Given the description of an element on the screen output the (x, y) to click on. 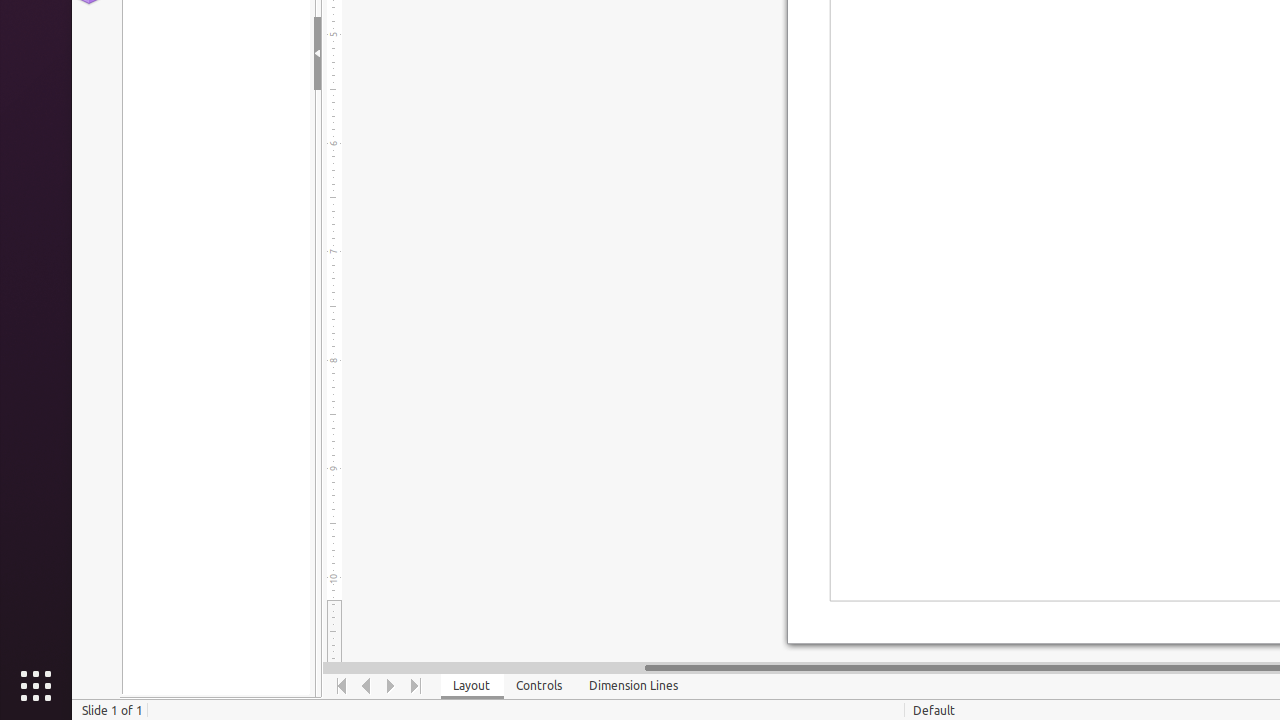
Move Right Element type: push-button (391, 686)
Controls Element type: page-tab (540, 686)
Dimension Lines Element type: page-tab (634, 686)
